Given the description of an element on the screen output the (x, y) to click on. 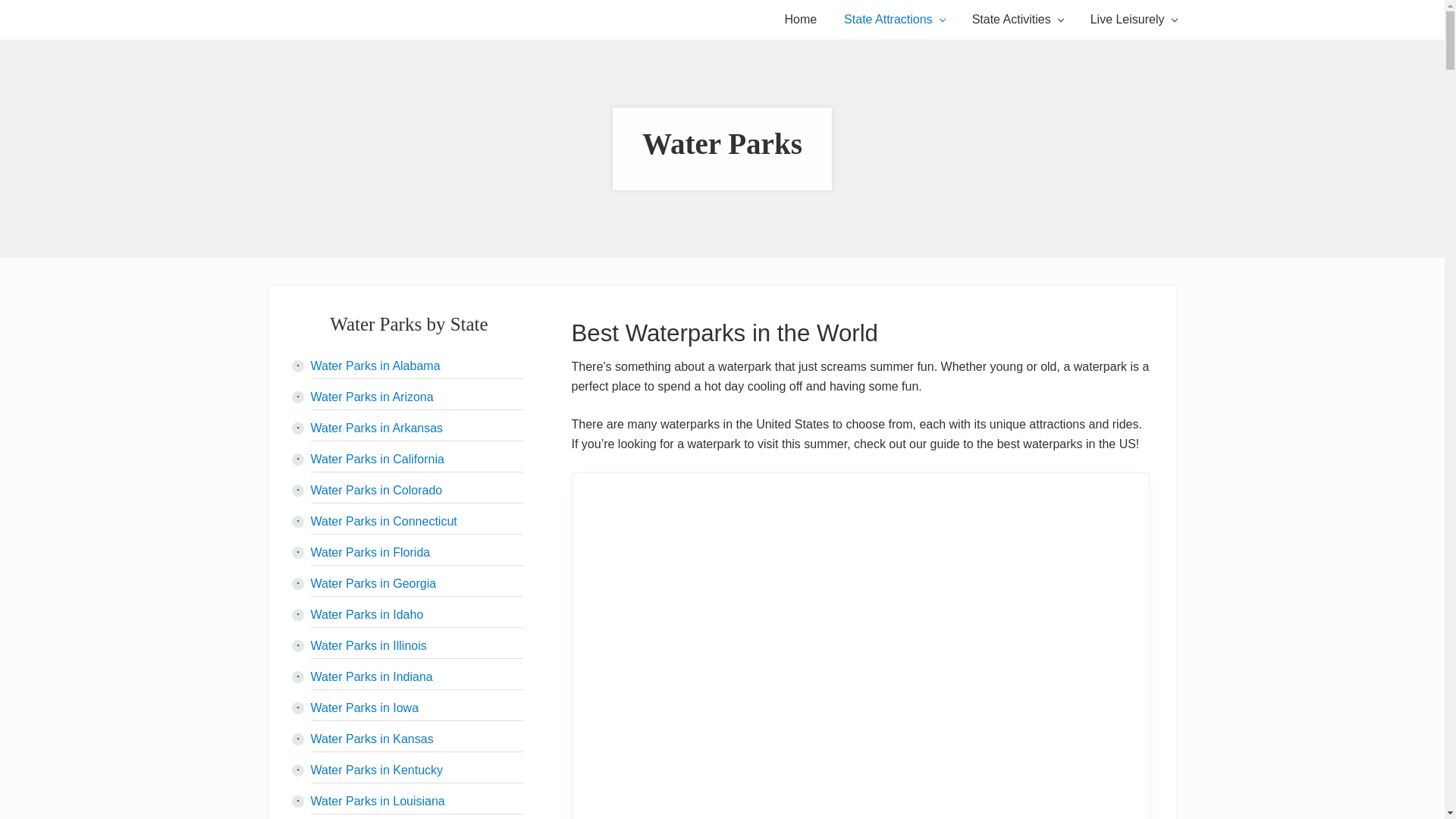
Home (799, 19)
State Activities (1017, 19)
Live Leisurely (1133, 19)
State Attractions (893, 19)
